Given the description of an element on the screen output the (x, y) to click on. 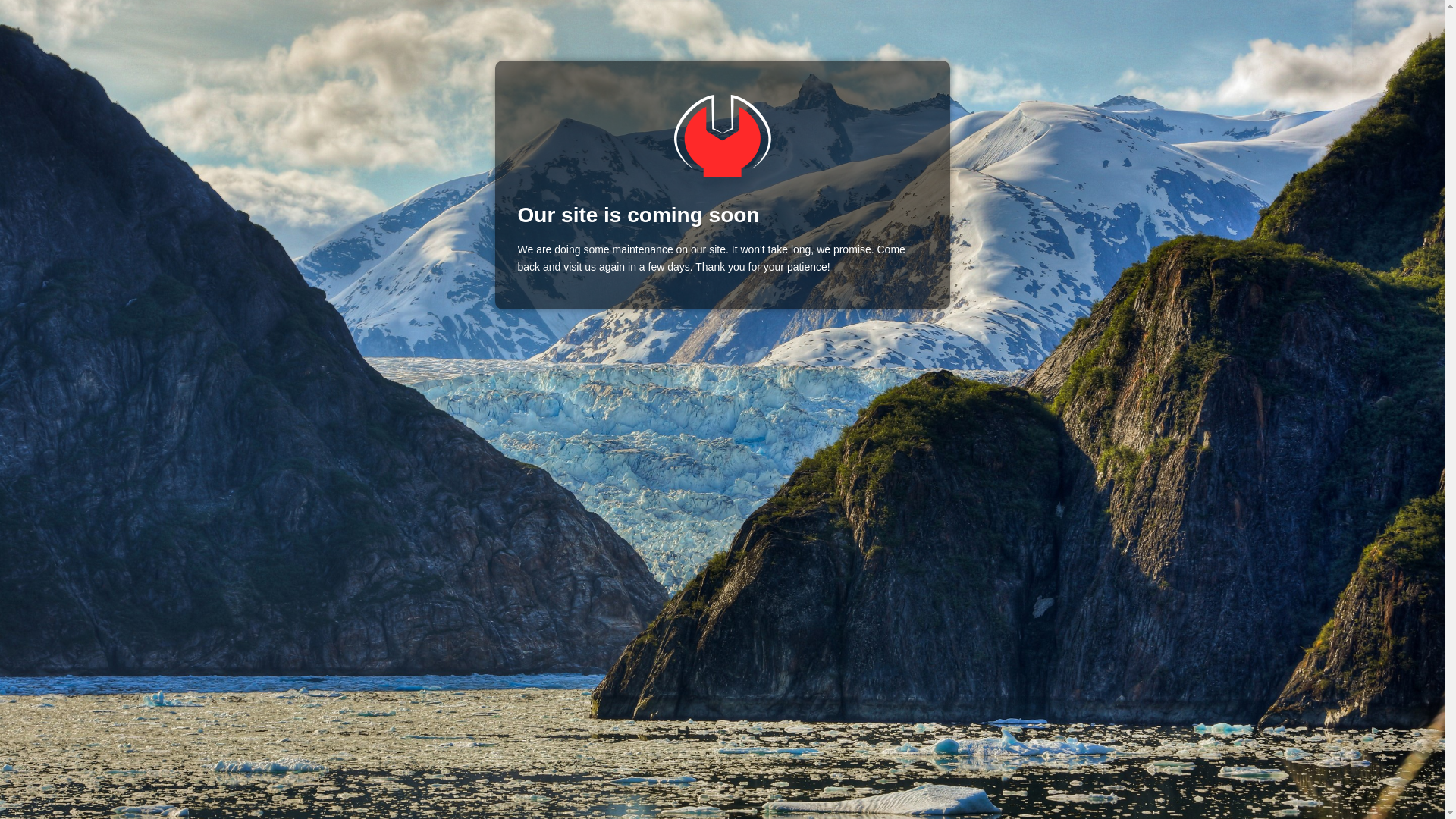
Neesh Property Element type: hover (721, 135)
